Given the description of an element on the screen output the (x, y) to click on. 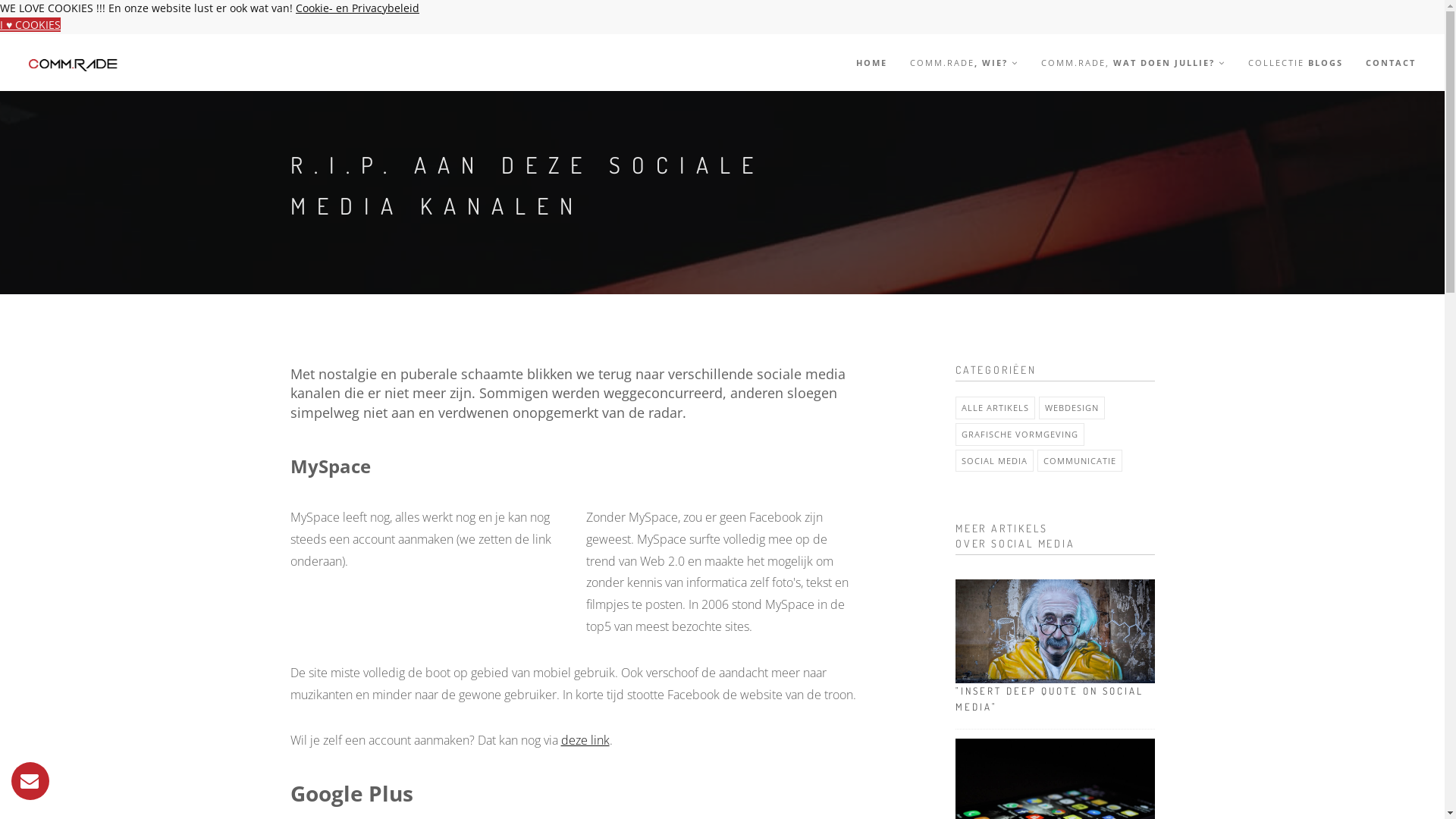
COMM.RADE, WAT DOEN JULLIE? Element type: text (1133, 62)
deze link Element type: text (585, 739)
"INSERT DEEP QUOTE ON SOCIAL MEDIA" Element type: text (1054, 699)
COMM.RADE, WIE? Element type: text (964, 62)
GRAFISCHE VORMGEVING Element type: text (1019, 434)
SOCIAL MEDIA Element type: text (994, 460)
Cookie- en Privacybeleid Element type: text (357, 7)
COMMUNICATIE Element type: text (1079, 460)
CONTACT Element type: text (1390, 62)
HOME Element type: text (871, 62)
WEBDESIGN Element type: text (1071, 407)
COLLECTIE BLOGS Element type: text (1295, 62)
ALLE ARTIKELS Element type: text (995, 407)
